Given the description of an element on the screen output the (x, y) to click on. 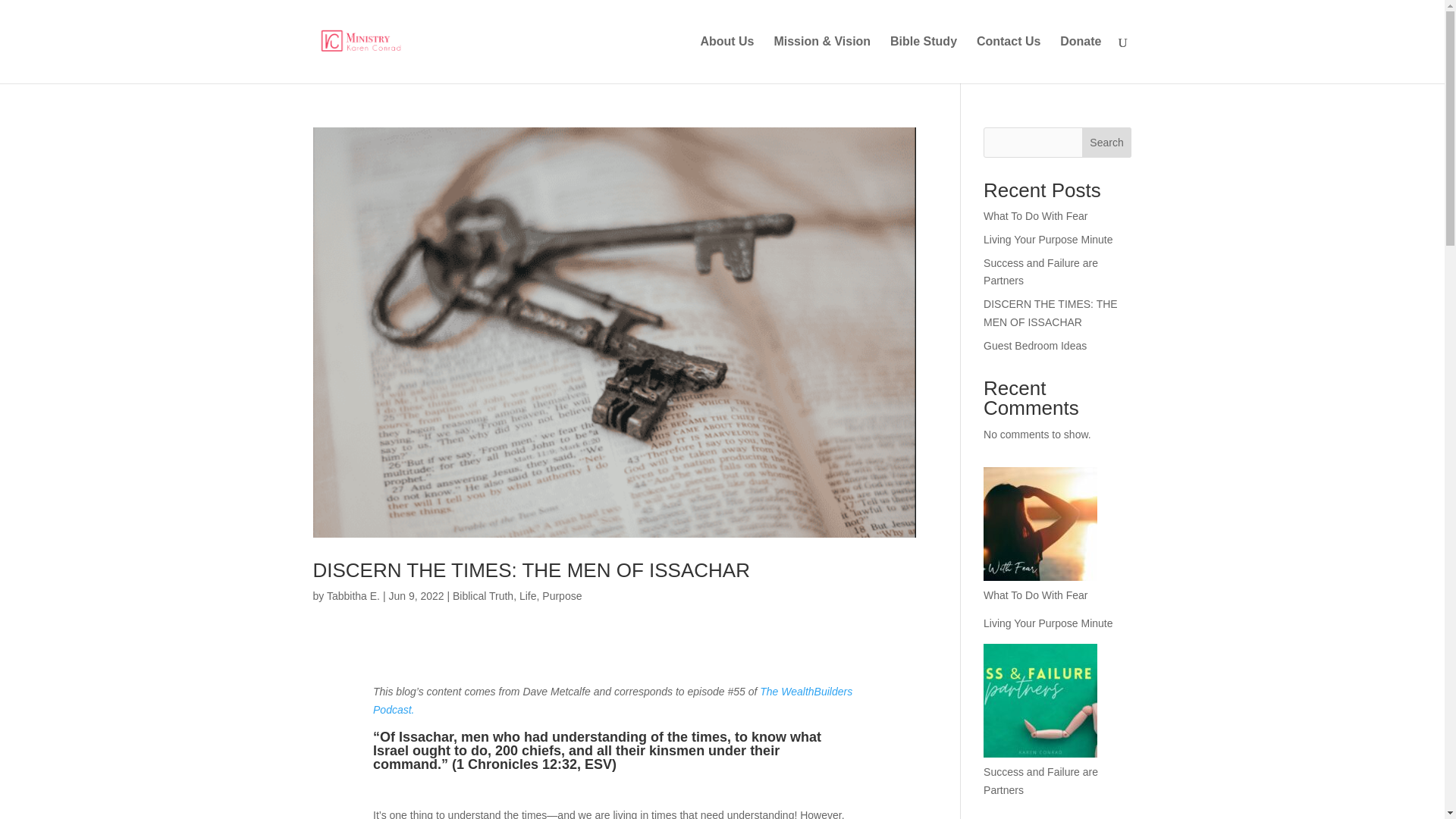
About Us (727, 59)
Biblical Truth (482, 595)
Contact Us (1008, 59)
Living Your Purpose Minute (1048, 623)
Search (1106, 142)
What To Do With Fear (1035, 215)
Living Your Purpose Minute (1048, 239)
Bible Study (922, 59)
Purpose (560, 595)
Life (528, 595)
Tabbitha E. (353, 595)
Guest Bedroom Ideas (1035, 345)
Success and Failure are Partners (1040, 272)
DISCERN THE TIMES: THE MEN OF ISSACHAR (1051, 313)
DISCERN THE TIMES: THE MEN OF ISSACHAR (531, 569)
